Given the description of an element on the screen output the (x, y) to click on. 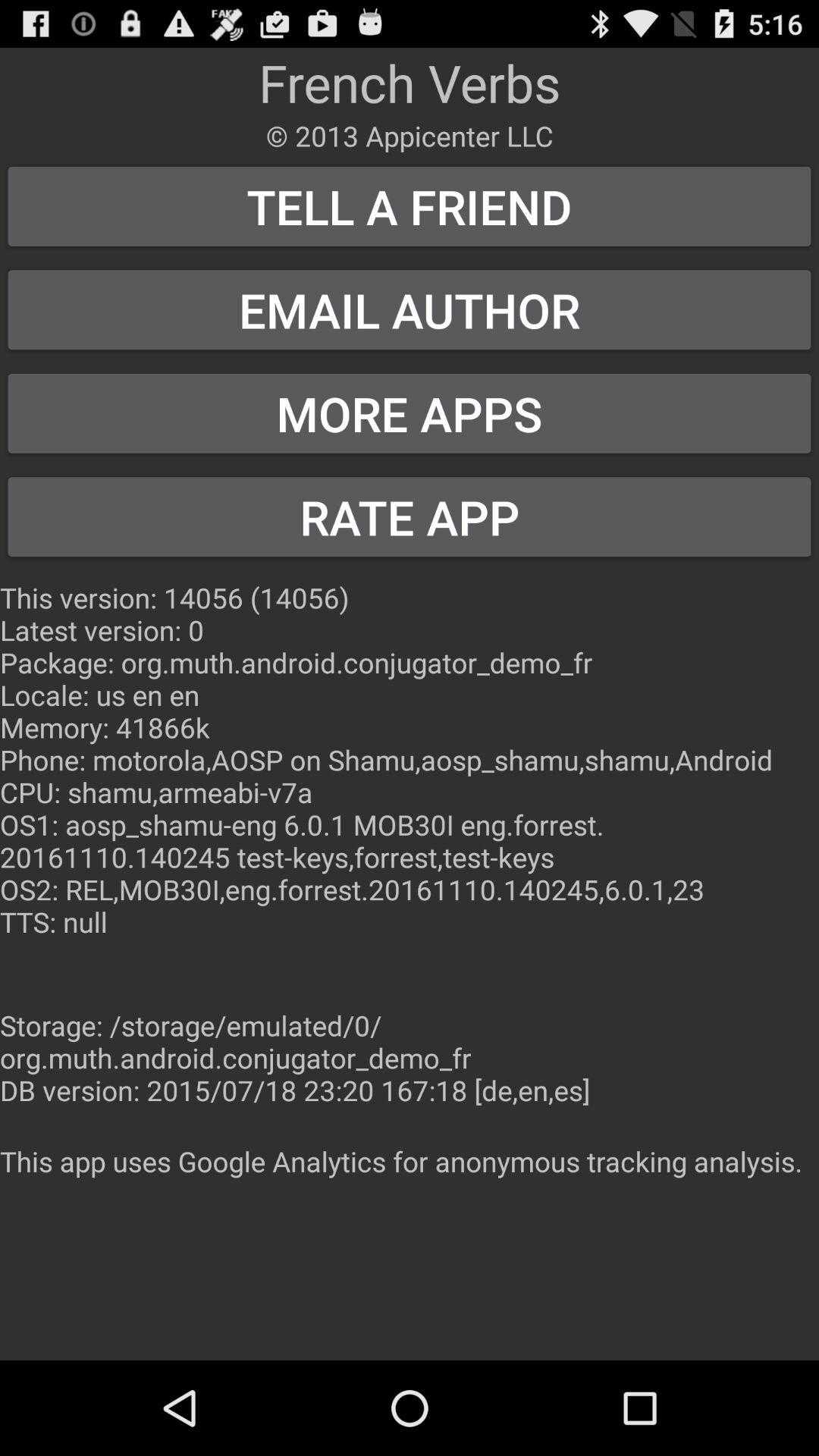
choose the item below more apps (409, 516)
